Given the description of an element on the screen output the (x, y) to click on. 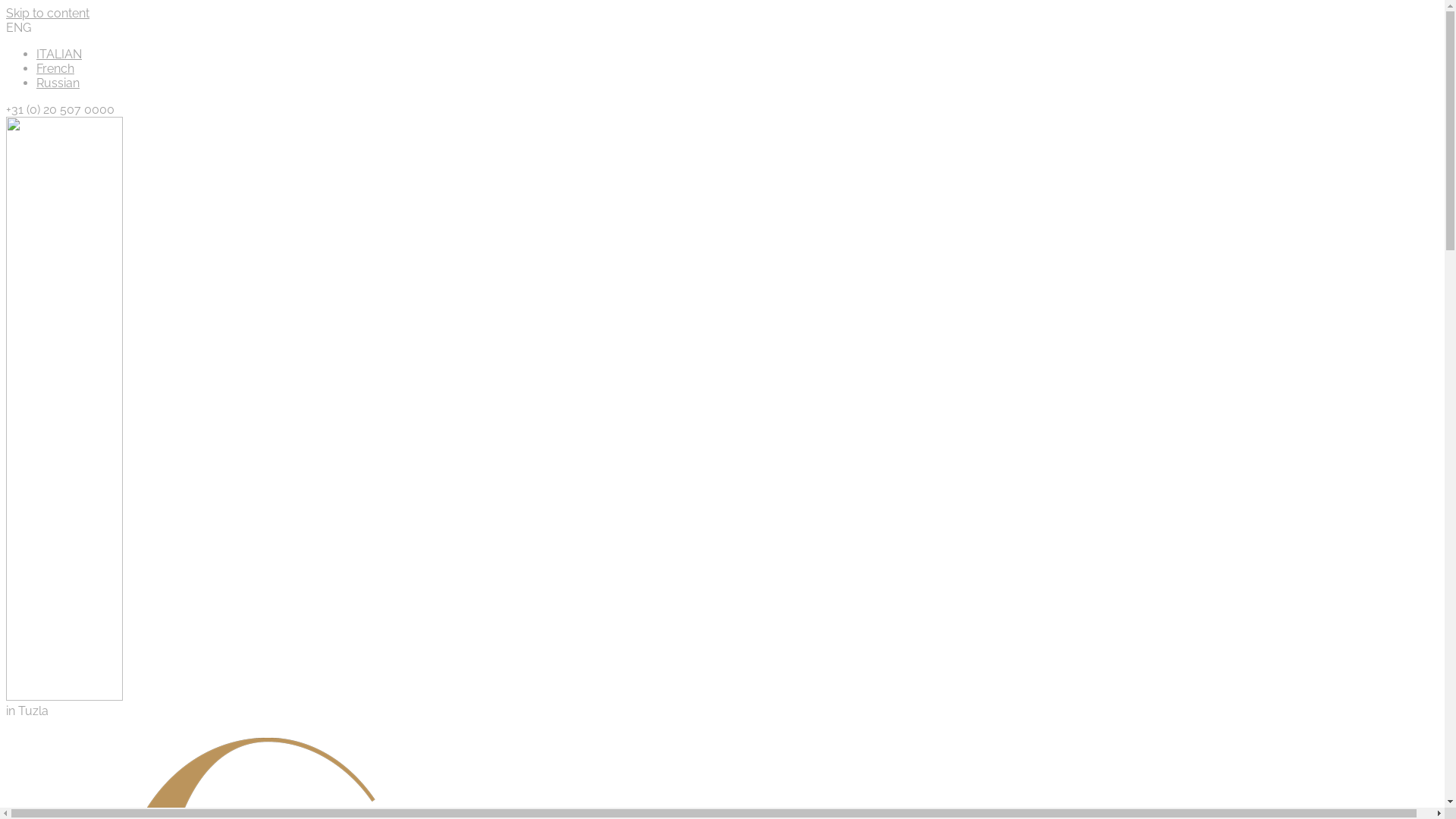
French Element type: text (55, 68)
ITALIAN Element type: text (58, 54)
Russian Element type: text (57, 82)
Skip to content Element type: text (47, 13)
